Given the description of an element on the screen output the (x, y) to click on. 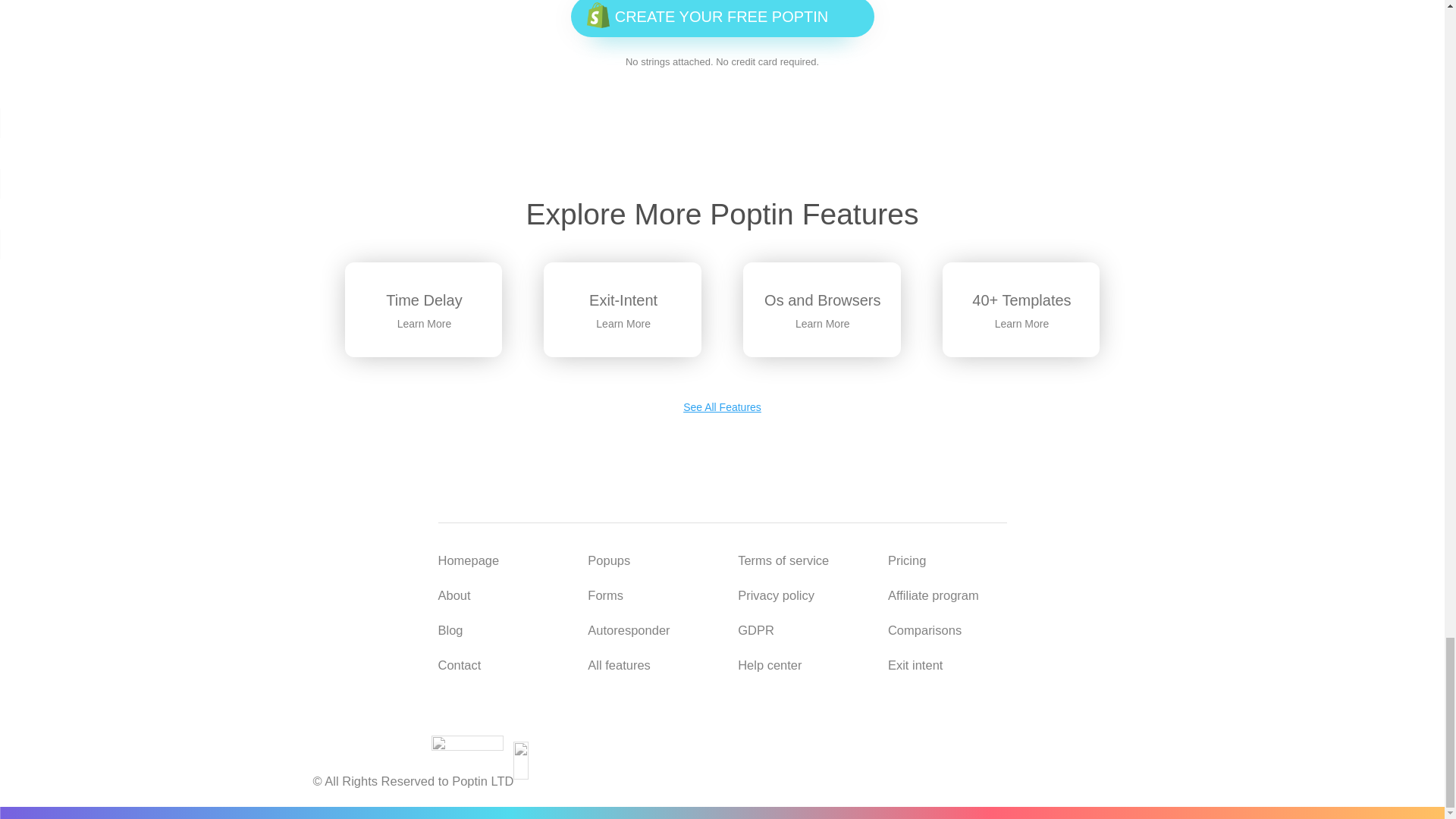
Follow on Instagram (721, 754)
Follow on Facebook (668, 754)
Follow on Youtube (615, 754)
Follow on Twitter (774, 754)
Follow on LinkedIn (827, 754)
